Given the description of an element on the screen output the (x, y) to click on. 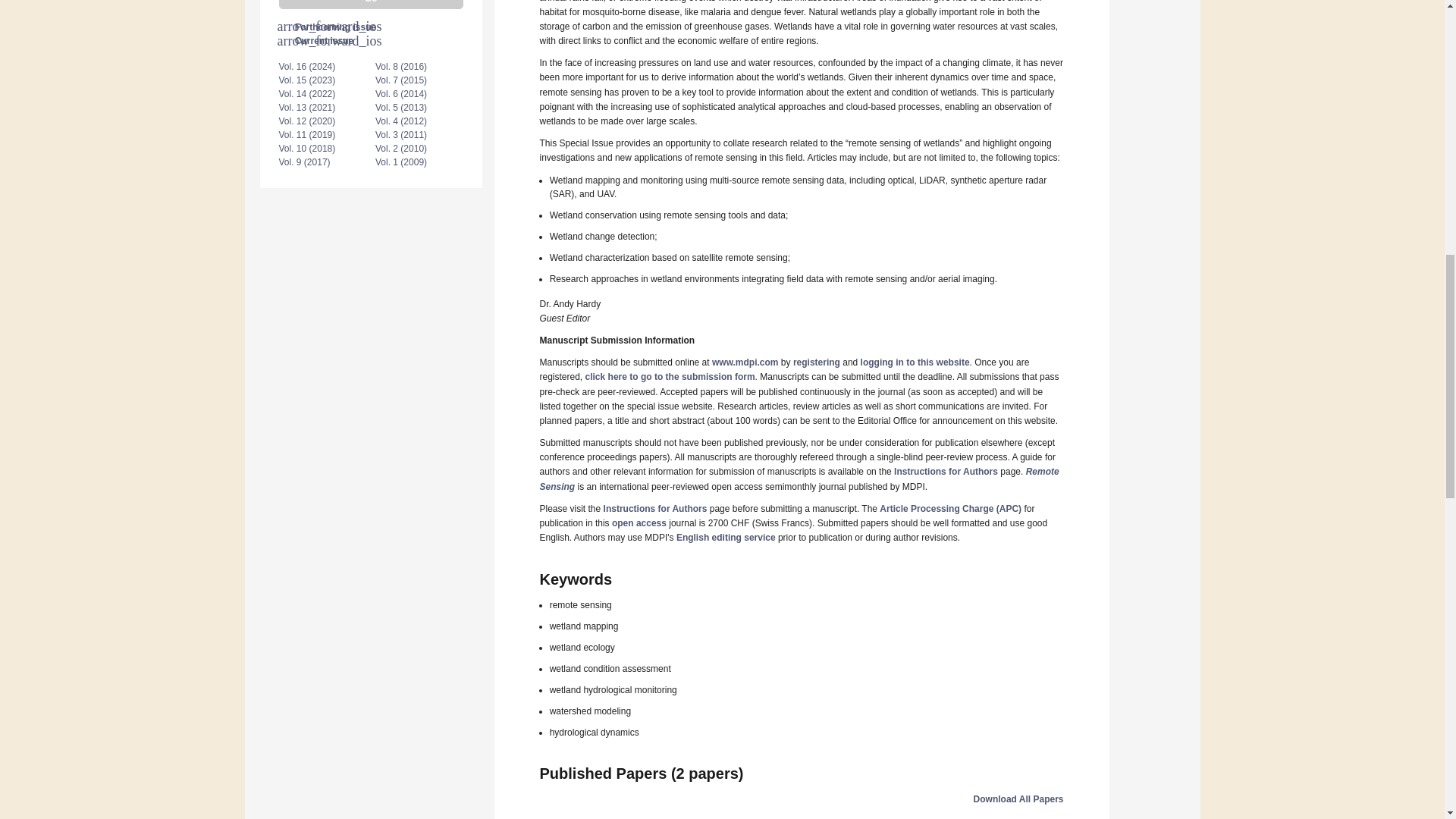
Go (371, 4)
